Given the description of an element on the screen output the (x, y) to click on. 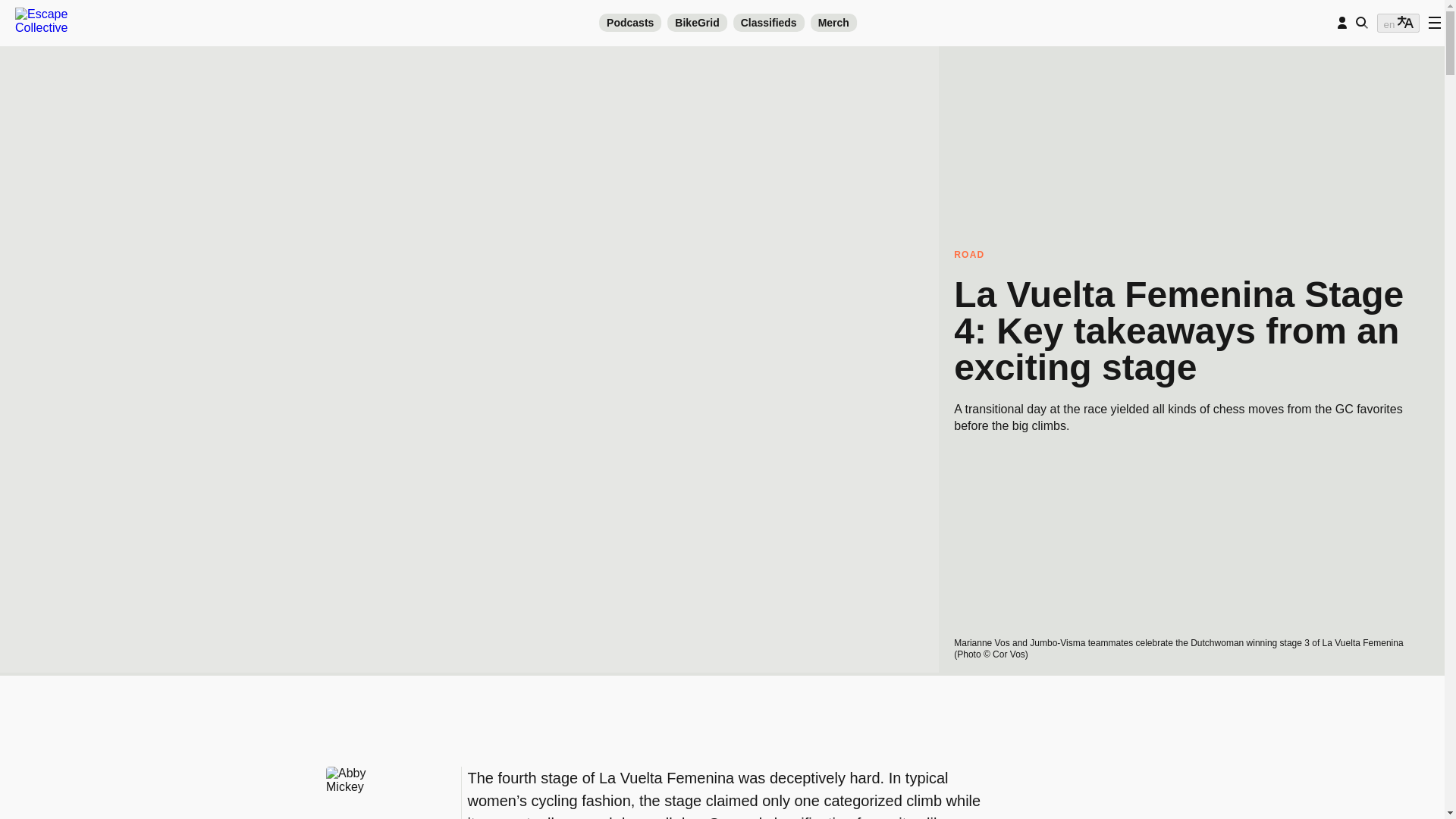
Classifieds (769, 22)
en (1398, 22)
Merch (833, 22)
BikeGrid (696, 22)
ROAD (1191, 255)
Podcasts (629, 22)
